Given the description of an element on the screen output the (x, y) to click on. 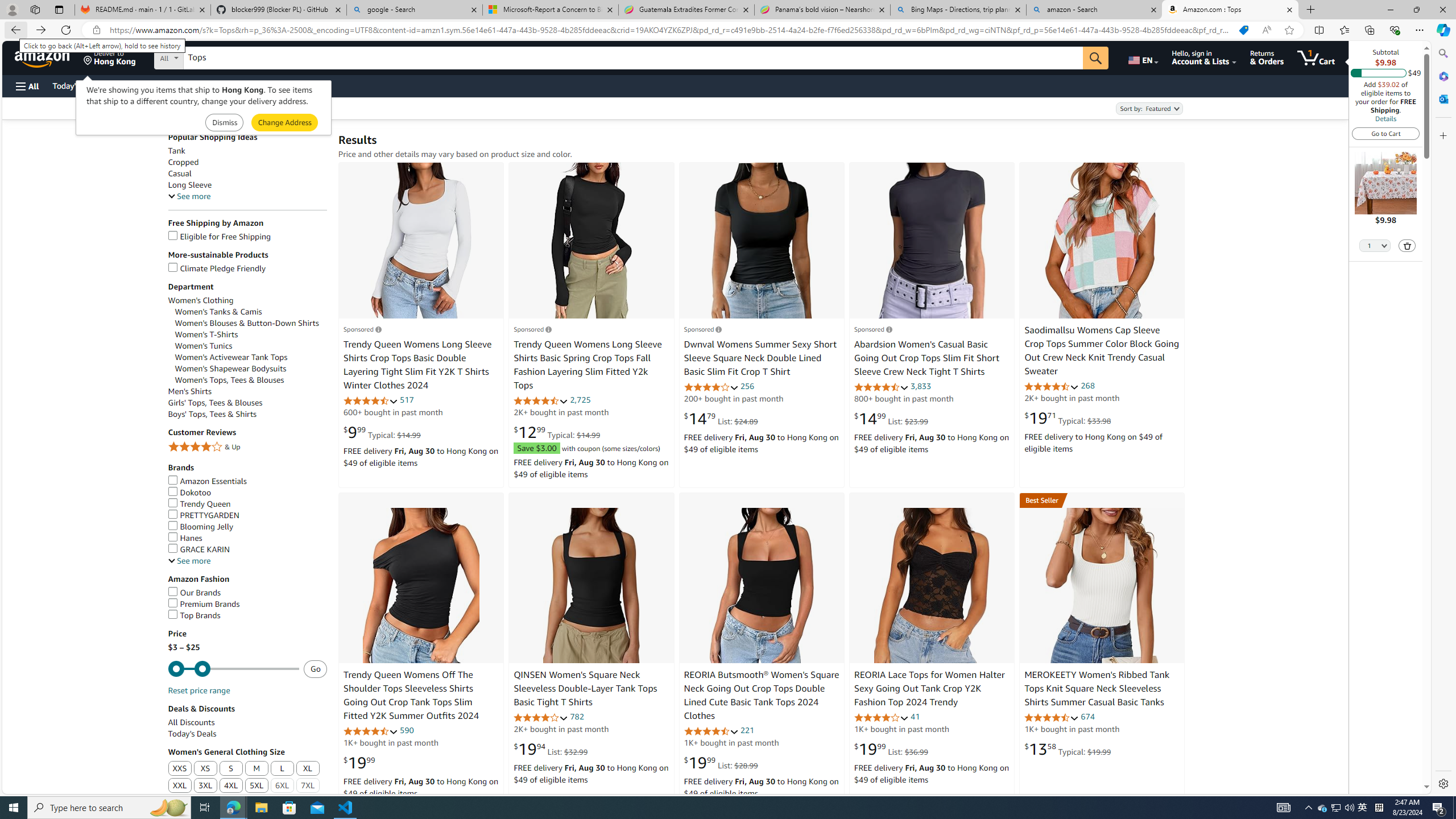
Tank (247, 150)
$14.79 List: $24.89 (721, 418)
Men's Shirts (247, 391)
Blooming Jelly (247, 526)
Dokotoo (189, 491)
Women's Tunics (203, 345)
$12.99 Typical: $14.99 (556, 431)
Minimum (233, 668)
7XL (307, 785)
Sort by: (1148, 108)
XXL (179, 785)
Go back to filtering menu (48, 788)
$9.99 Typical: $14.99 (381, 431)
